Given the description of an element on the screen output the (x, y) to click on. 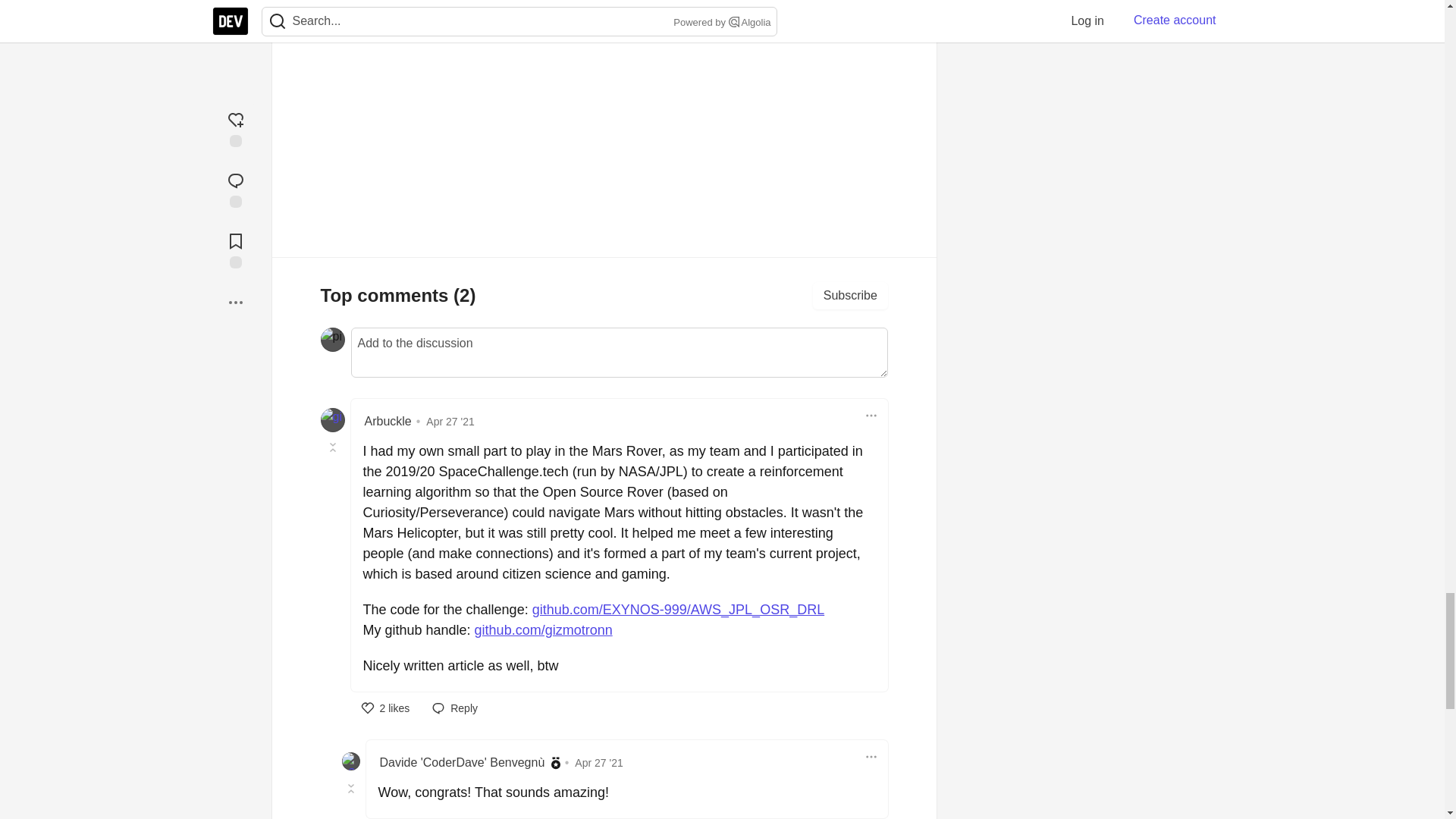
Dropdown menu (870, 756)
Dropdown menu (870, 415)
